Given the description of an element on the screen output the (x, y) to click on. 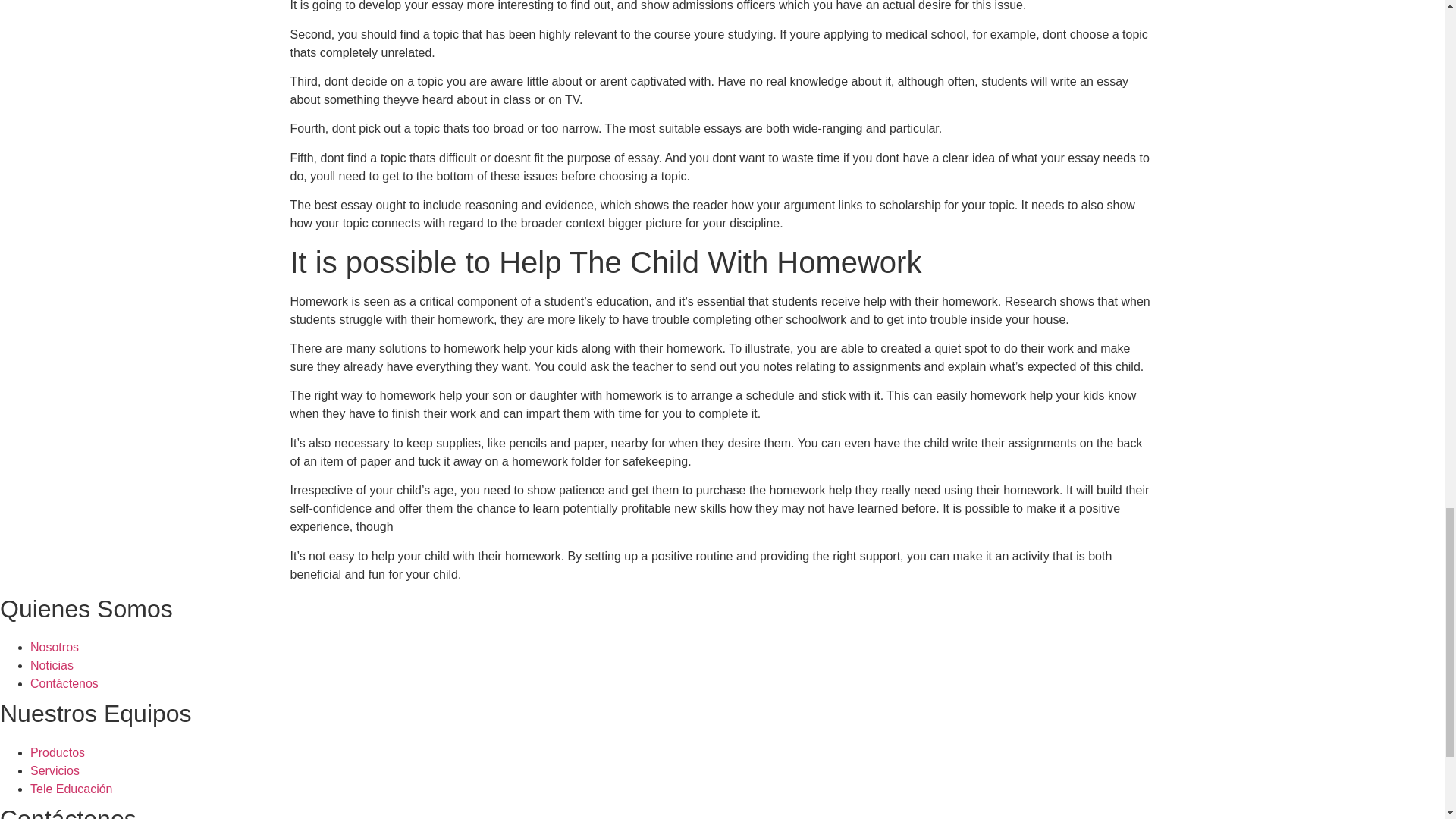
Productos (57, 752)
Servicios (55, 770)
Nosotros (54, 646)
Noticias (52, 665)
